Given the description of an element on the screen output the (x, y) to click on. 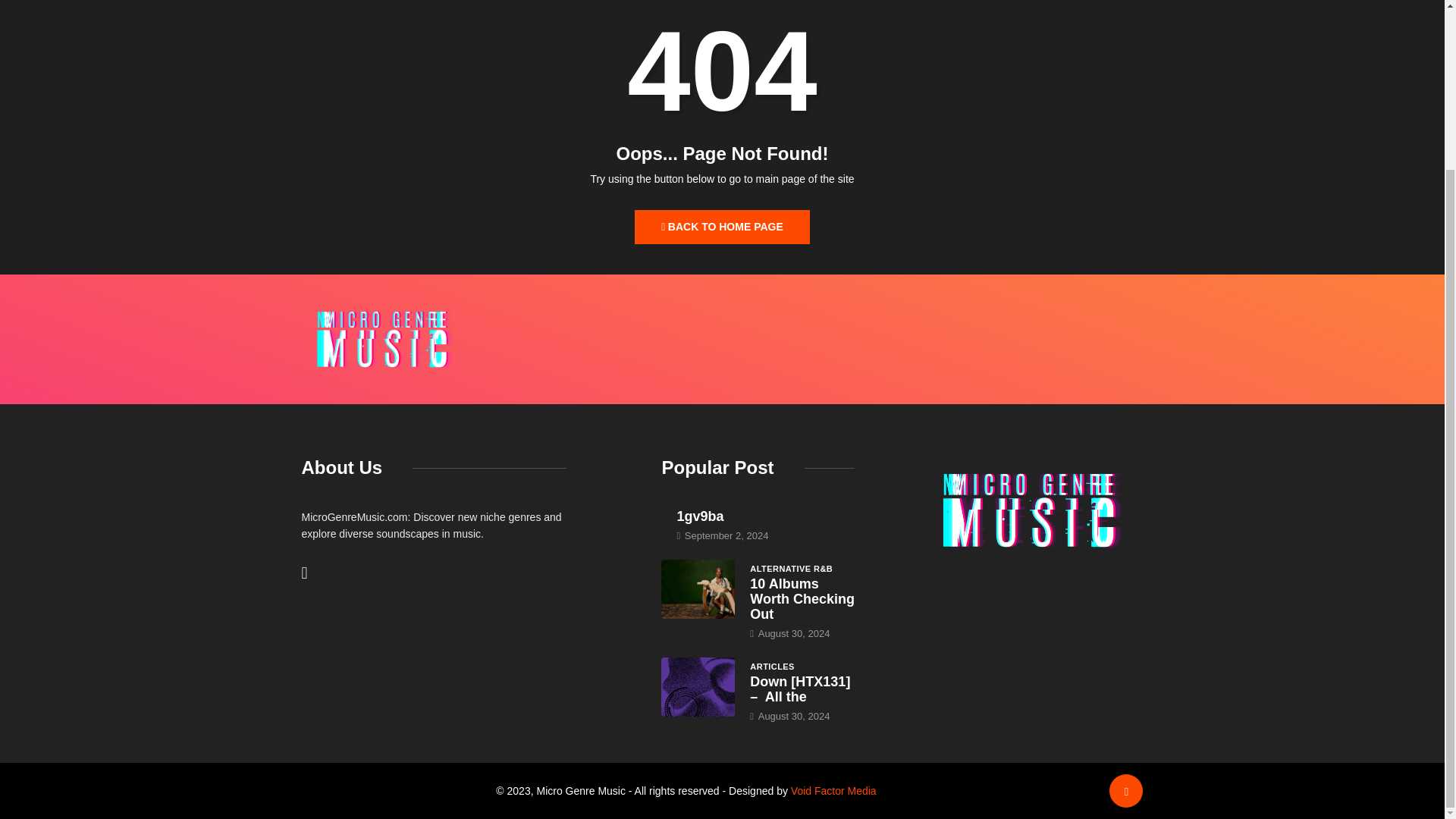
1gv9ba (700, 516)
BACK TO HOME PAGE (721, 226)
ARTICLES (771, 666)
10 Albums Worth Checking Out (801, 598)
10 Albums Worth Checking Out Released Today, August 30. (698, 589)
1gv9ba (700, 516)
10 Albums Worth Checking Out Released Today, August 30. (801, 598)
Void Factor Media (833, 790)
